Given the description of an element on the screen output the (x, y) to click on. 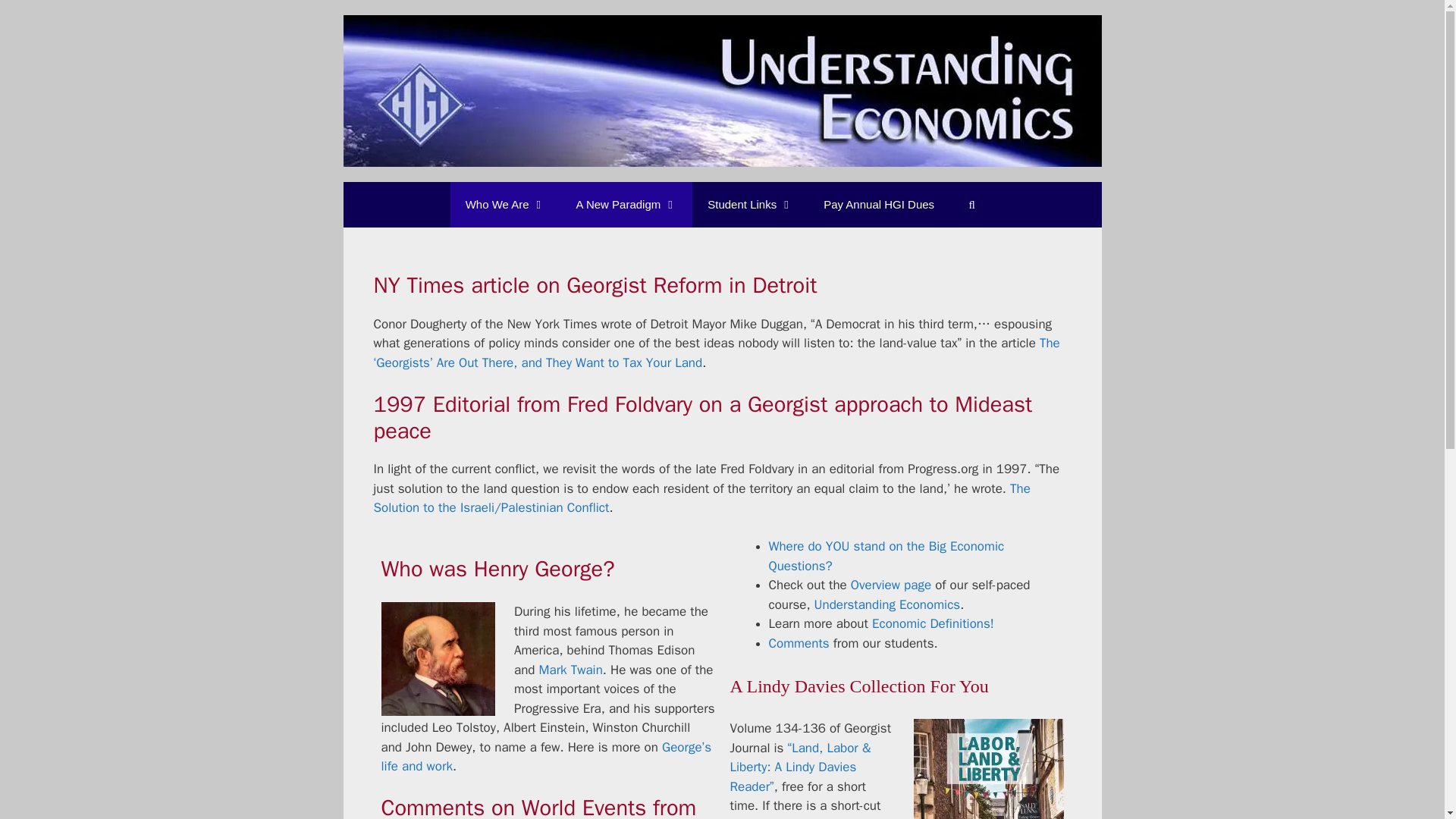
A Lindy Davies Collection For You (858, 686)
Economic Definitions! (933, 623)
Comments (798, 643)
A New Paradigm (626, 204)
Overview page (890, 584)
Who We Are (504, 204)
Pay Annual HGI Dues (878, 204)
Mark Twain (570, 669)
Student Links (750, 204)
Understanding Economics (886, 604)
